Given the description of an element on the screen output the (x, y) to click on. 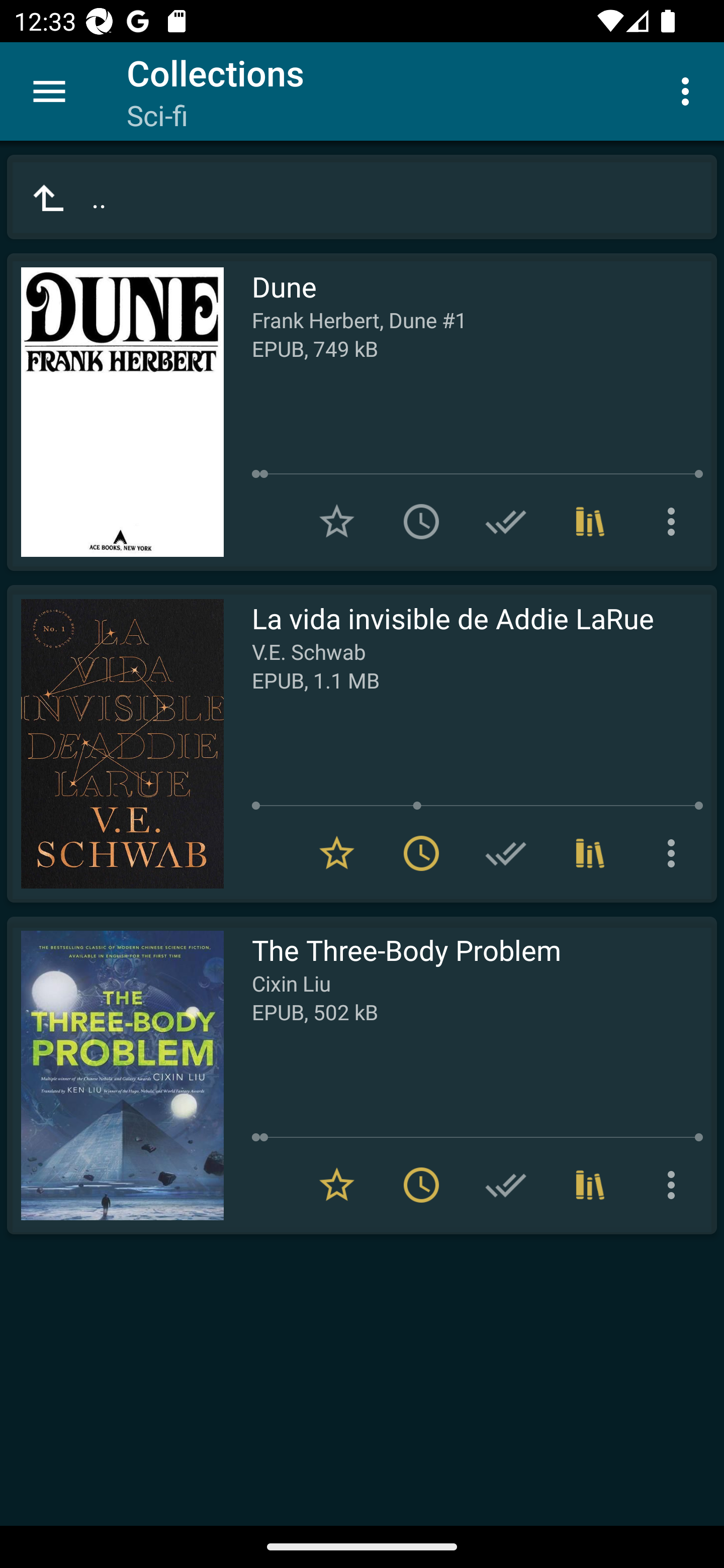
Menu (49, 91)
More options (688, 90)
.. (361, 197)
Read Dune (115, 412)
Add to Favorites (336, 521)
Add to To read (421, 521)
Add to Have read (505, 521)
Collections (1) (590, 521)
More options (674, 521)
Read La vida invisible de Addie LaRue (115, 743)
Remove from Favorites (336, 852)
Remove from To read (421, 852)
Add to Have read (505, 852)
Collections (1) (590, 852)
More options (674, 852)
Read The Three-Body Problem (115, 1075)
Remove from Favorites (336, 1185)
